Given the description of an element on the screen output the (x, y) to click on. 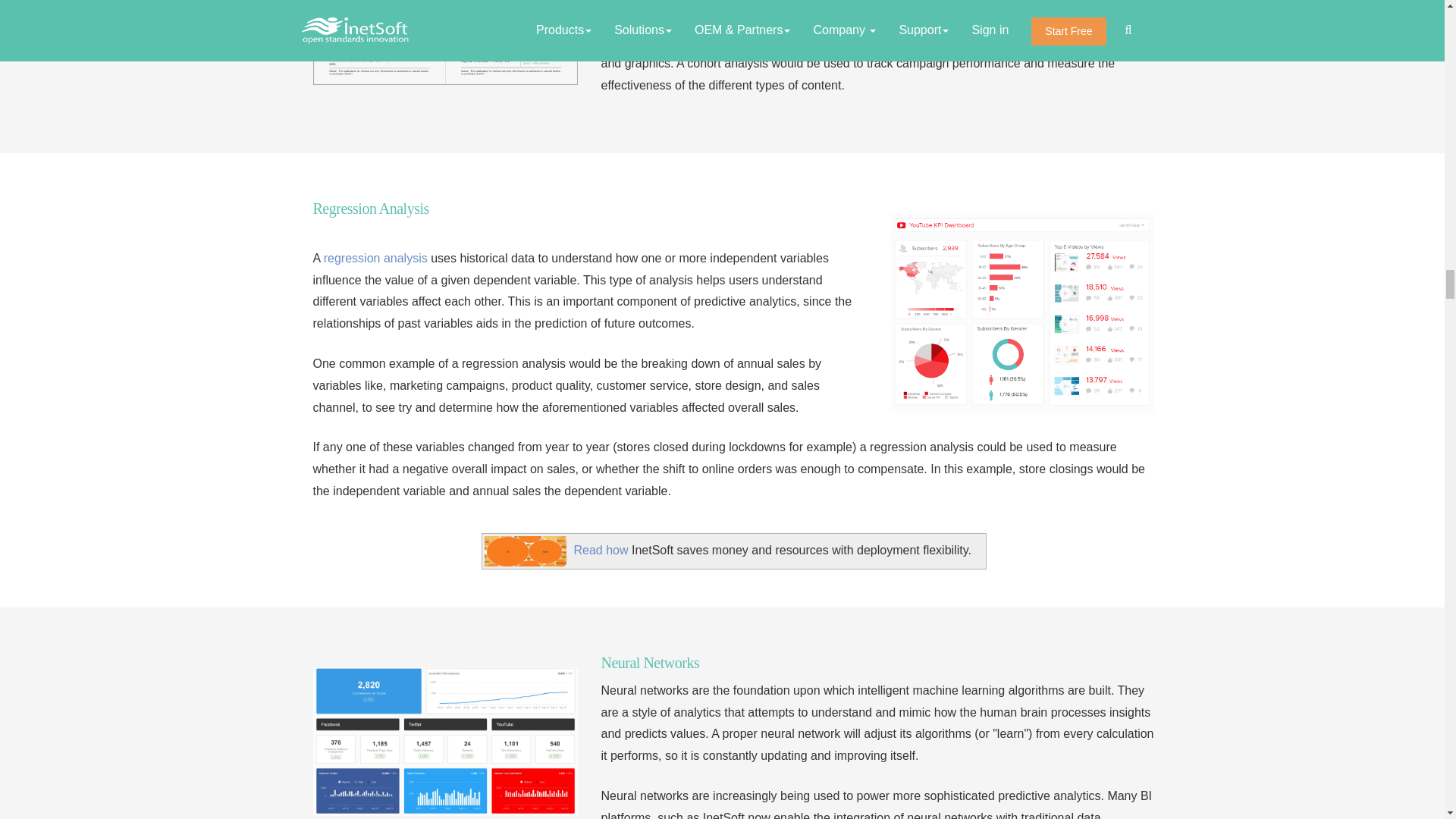
Read the reasons InetSoft is cost-effective (524, 551)
Read the reasons InetSoft is cost-effective (600, 549)
